Given the description of an element on the screen output the (x, y) to click on. 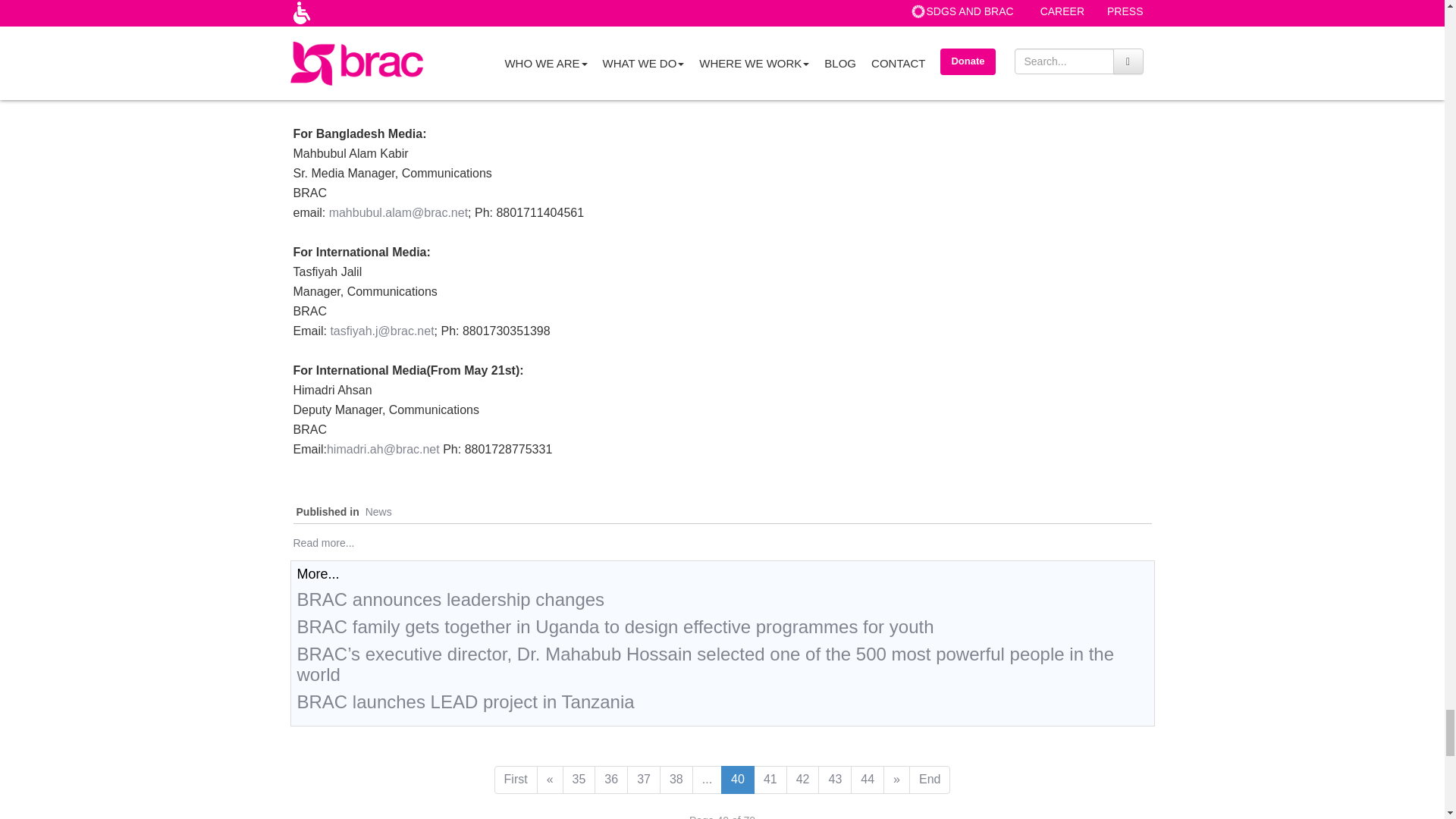
41 (770, 779)
44 (866, 779)
39 (707, 779)
42 (802, 779)
37 (644, 779)
43 (834, 779)
36 (610, 779)
End (929, 779)
Next (896, 779)
35 (578, 779)
38 (676, 779)
Start (516, 779)
Prev (550, 779)
